Given the description of an element on the screen output the (x, y) to click on. 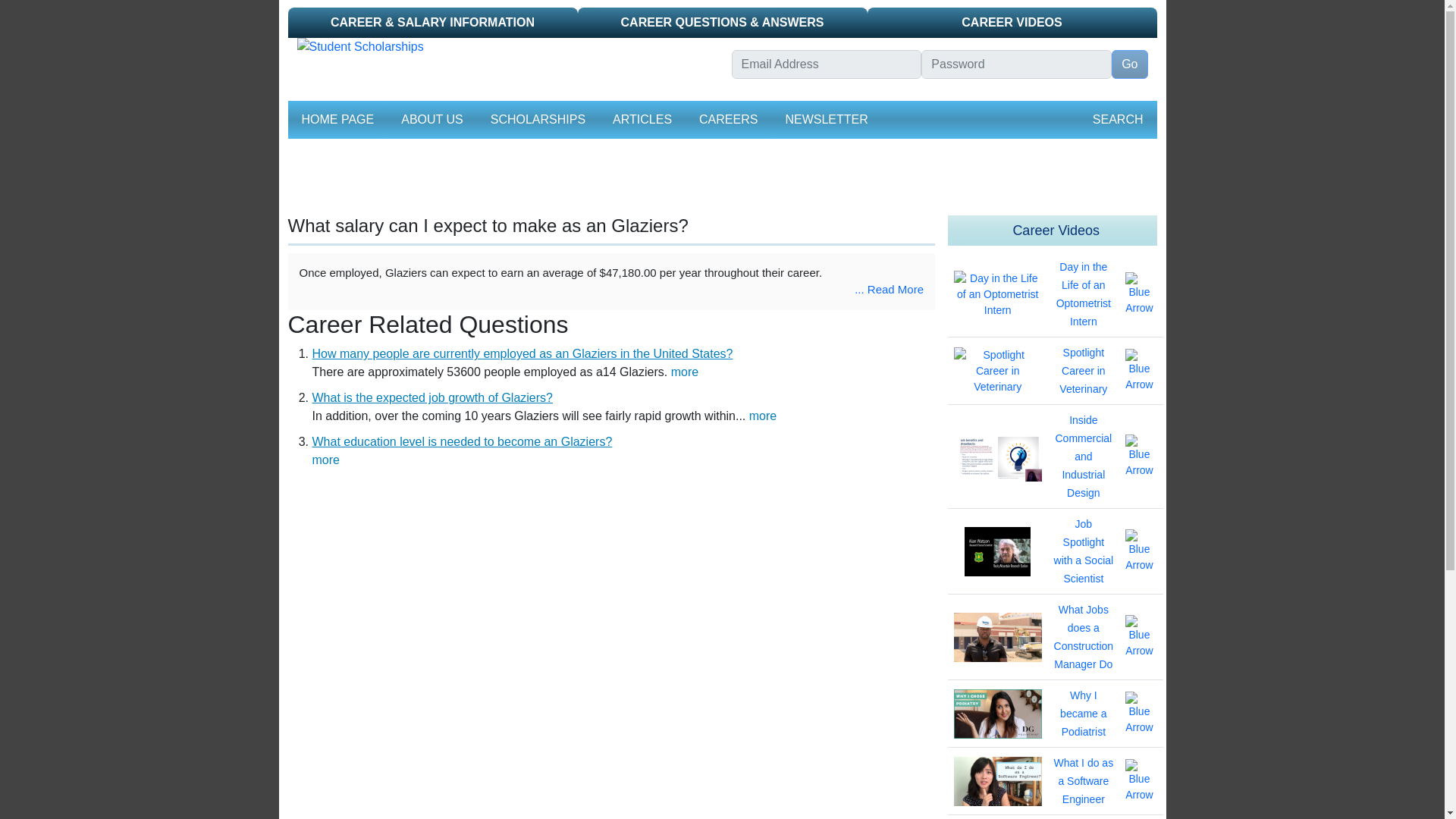
more (762, 415)
NEWSLETTER (825, 119)
... Read More (888, 288)
HOME PAGE (337, 119)
CAREERS (727, 119)
ABOUT US (431, 119)
Student Scholarships (505, 46)
What education level is needed to become an Glaziers? (462, 440)
CAREER VIDEOS (1012, 22)
SEARCH (1118, 119)
more (326, 459)
ARTICLES (642, 119)
SCHOLARSHIPS (537, 119)
Register (885, 91)
